Given the description of an element on the screen output the (x, y) to click on. 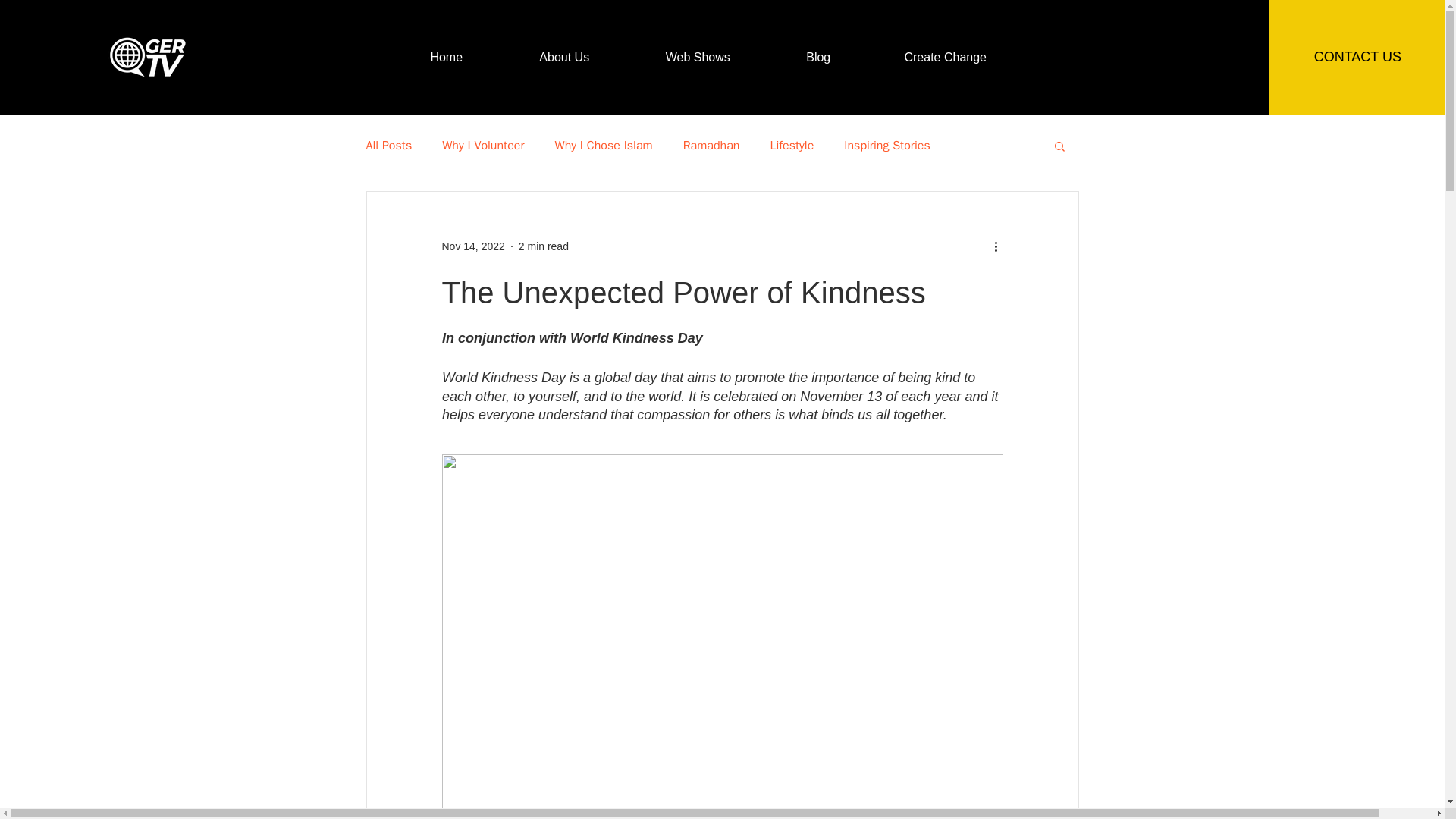
Ramadhan (710, 145)
Lifestyle (791, 145)
Home (445, 57)
Nov 14, 2022 (472, 245)
Why I Chose Islam (603, 145)
Why I Volunteer (483, 145)
Create Change (945, 57)
Web Shows (697, 57)
2 min read (543, 245)
Blog (818, 57)
Inspiring Stories (887, 145)
All Posts (388, 145)
